Given the description of an element on the screen output the (x, y) to click on. 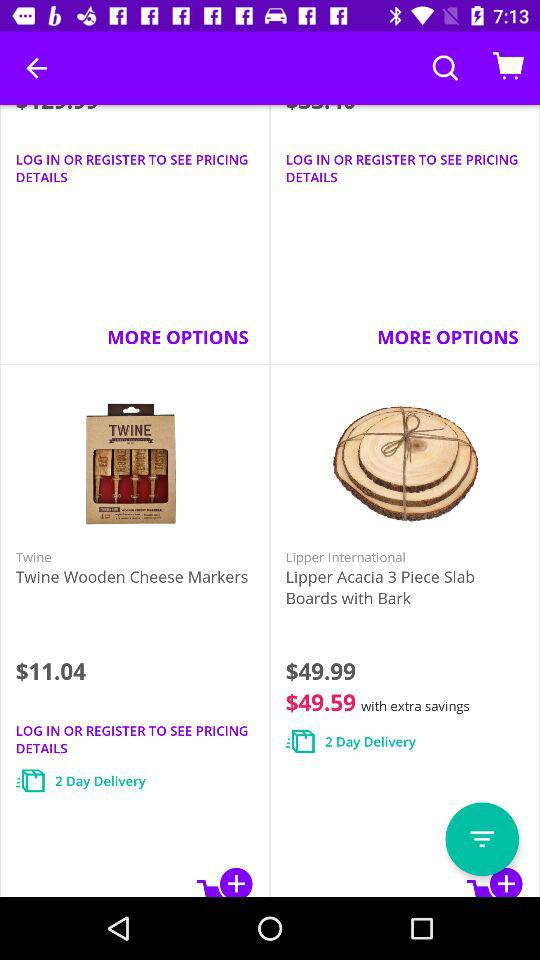
click the item next to the $33.40 icon (36, 68)
